Given the description of an element on the screen output the (x, y) to click on. 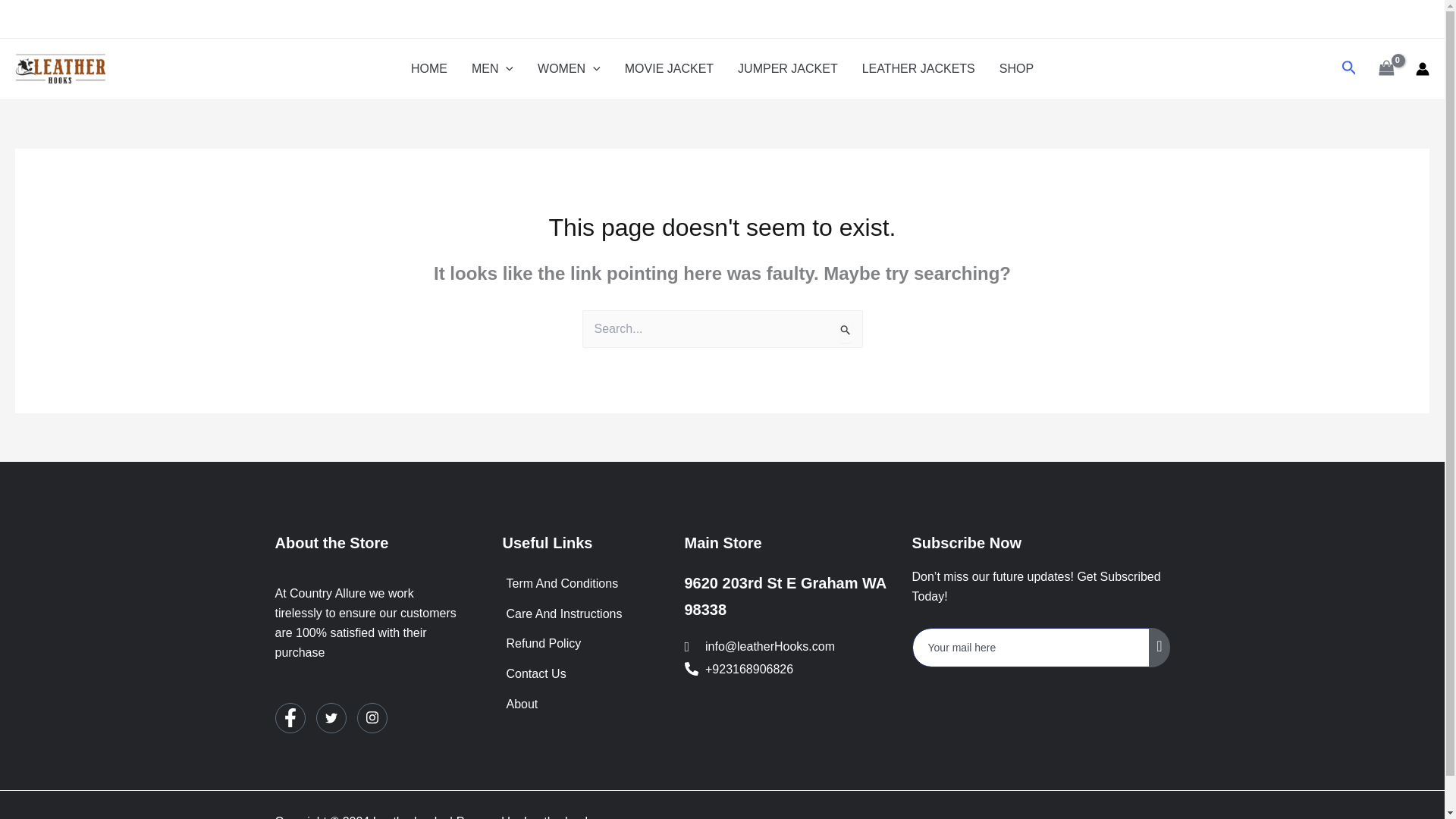
LEATHER JACKETS (918, 68)
SHOP (1016, 68)
MOVIE JACKET (668, 68)
MEN (492, 68)
HOME (429, 68)
WOMEN (568, 68)
JUMPER JACKET (787, 68)
